Given the description of an element on the screen output the (x, y) to click on. 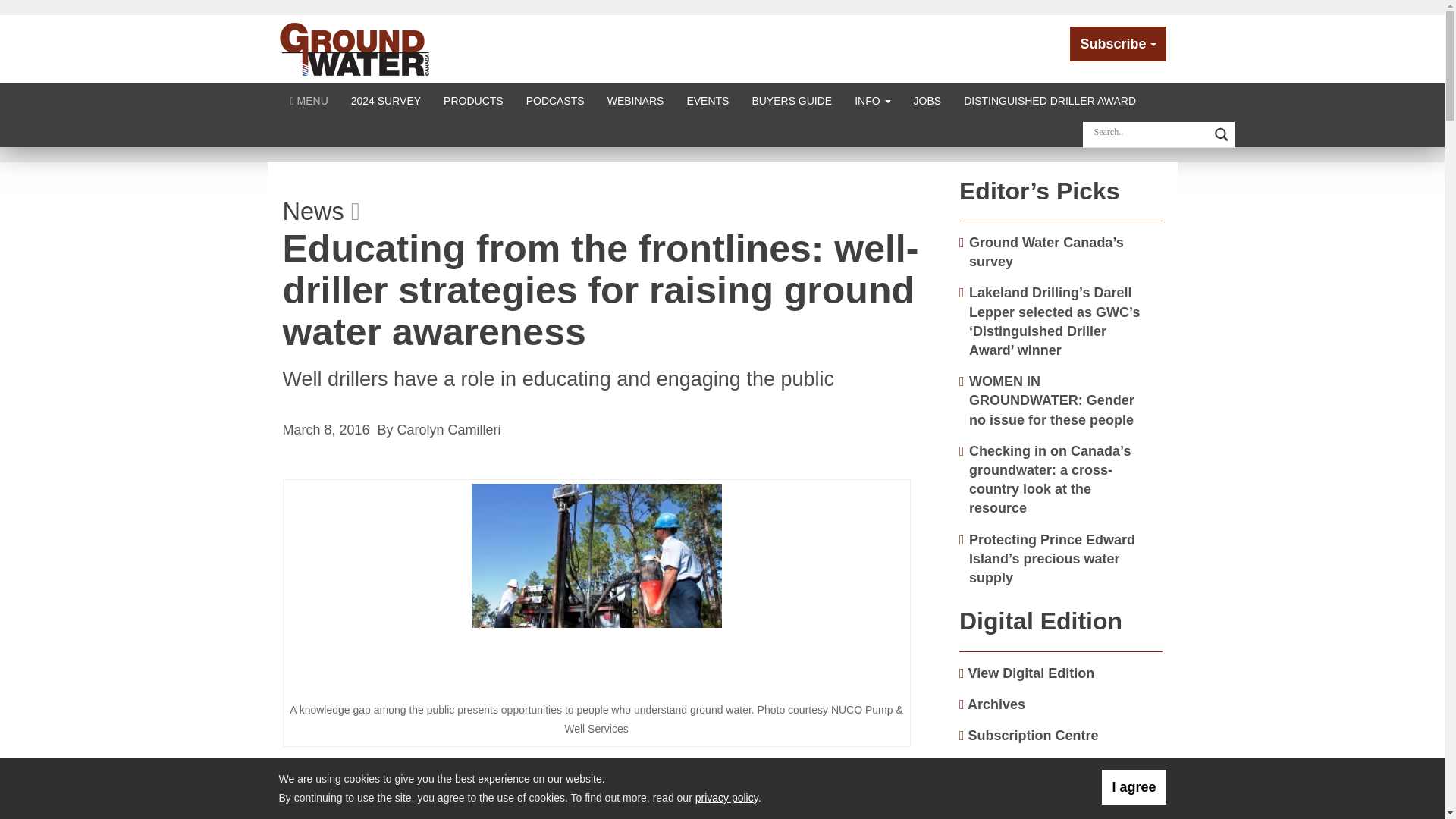
PRODUCTS (473, 100)
PODCASTS (555, 100)
Click to show site navigation (309, 100)
Subscribe (1118, 43)
JOBS (927, 100)
2024 SURVEY (385, 100)
Ground Water Canada (354, 48)
INFO (872, 100)
DISTINGUISHED DRILLER AWARD (1049, 100)
EVENTS (707, 100)
BUYERS GUIDE (791, 100)
WEBINARS (635, 100)
MENU (309, 100)
